Given the description of an element on the screen output the (x, y) to click on. 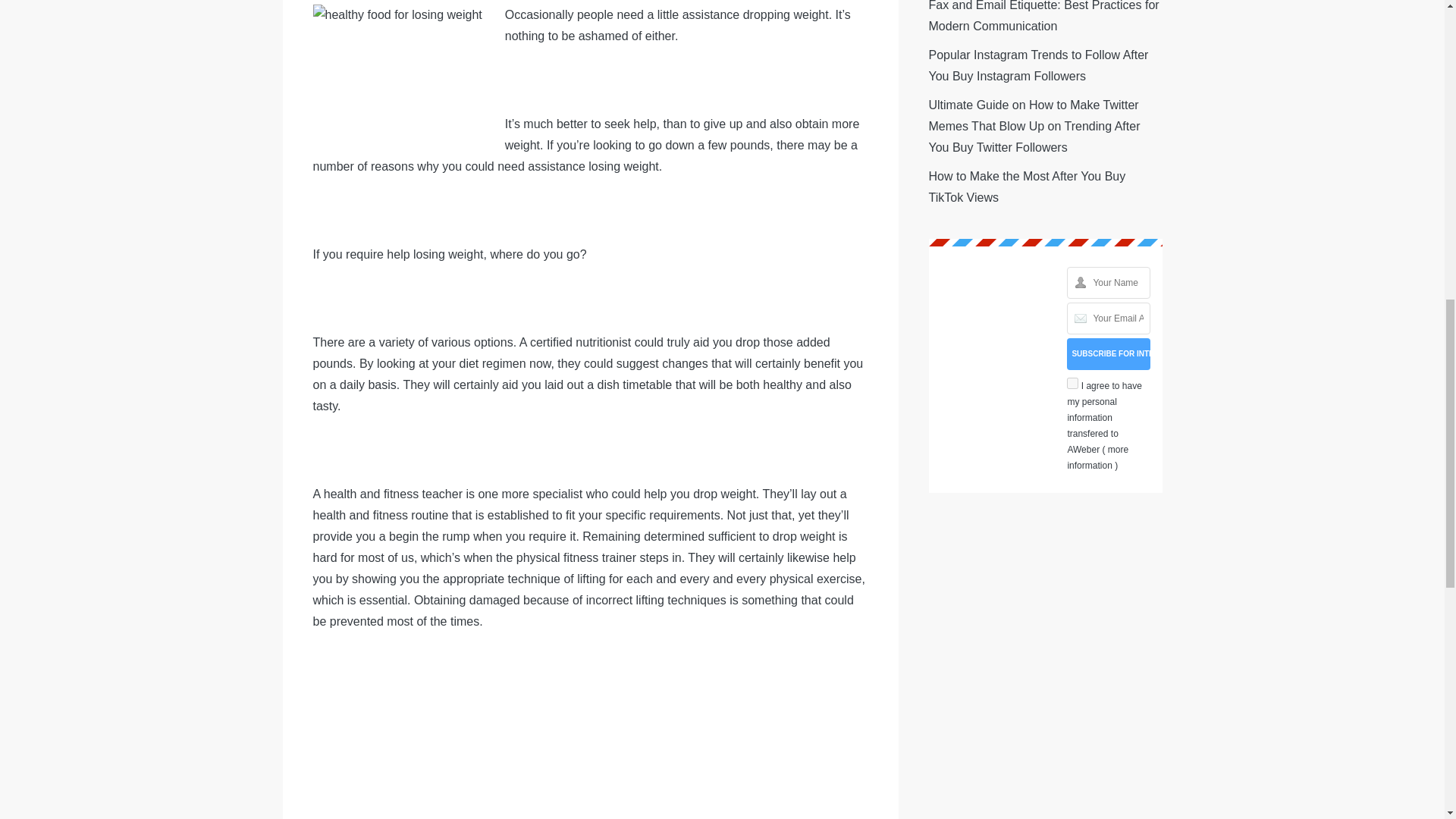
on (1072, 383)
Subscribe for interesting News (1108, 354)
Subscribe for interesting News (1108, 354)
How to Make the Most After You Buy TikTok Views (1026, 186)
more information (1097, 457)
